Given the description of an element on the screen output the (x, y) to click on. 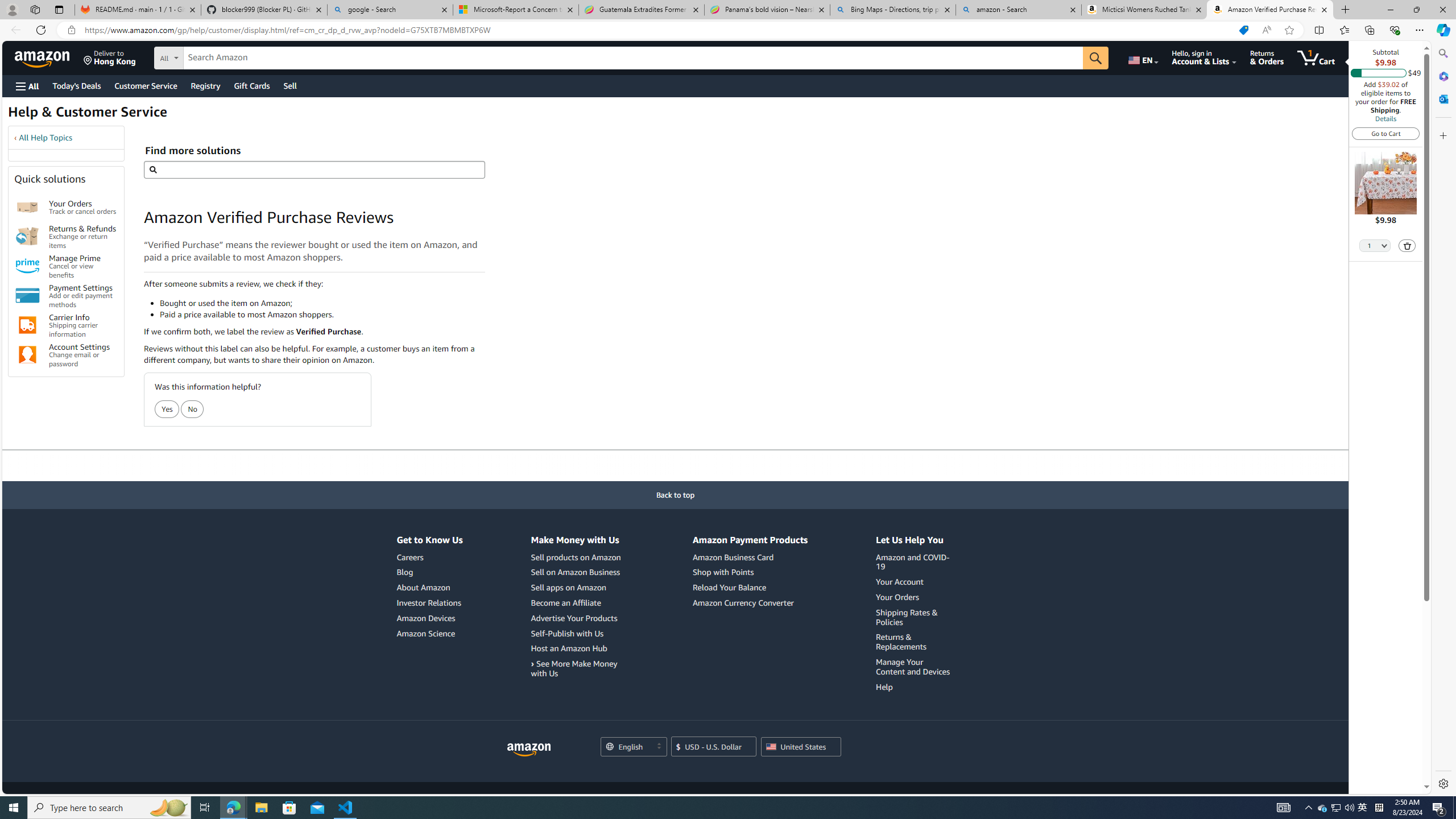
Manage Your Content and Devices (912, 666)
Delete (1407, 245)
Reload Your Balance (749, 587)
Payment Settings (27, 295)
Your Orders Track or cancel orders (82, 207)
Back to top (675, 494)
Sell apps on Amazon (568, 587)
Amazon Verified Purchase Reviews - Amazon Customer Service (1270, 9)
Payment Settings Add or edit payment methods (82, 295)
Your Orders (914, 596)
Careers (409, 557)
